Given the description of an element on the screen output the (x, y) to click on. 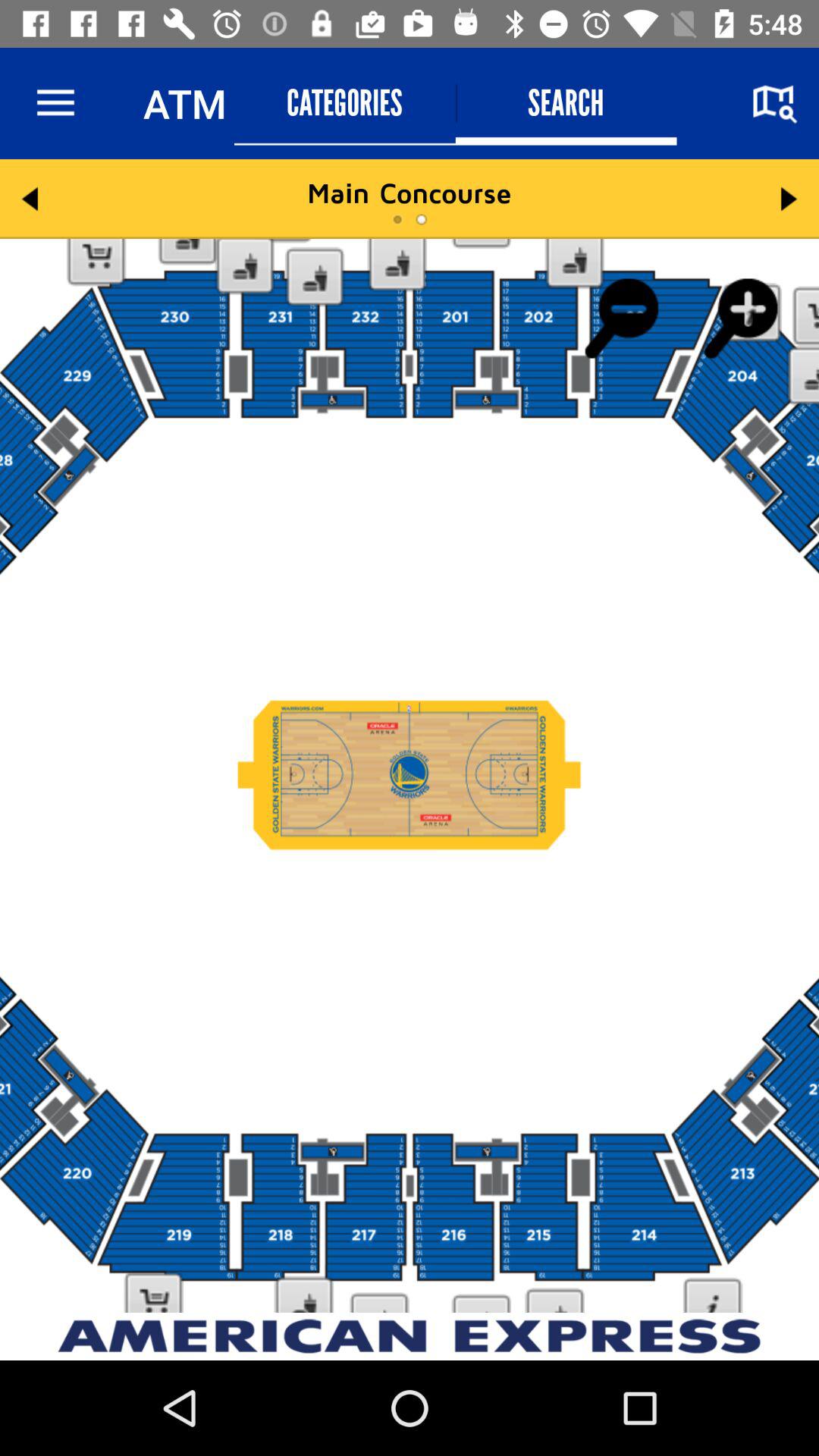
select area of seating (409, 775)
